Given the description of an element on the screen output the (x, y) to click on. 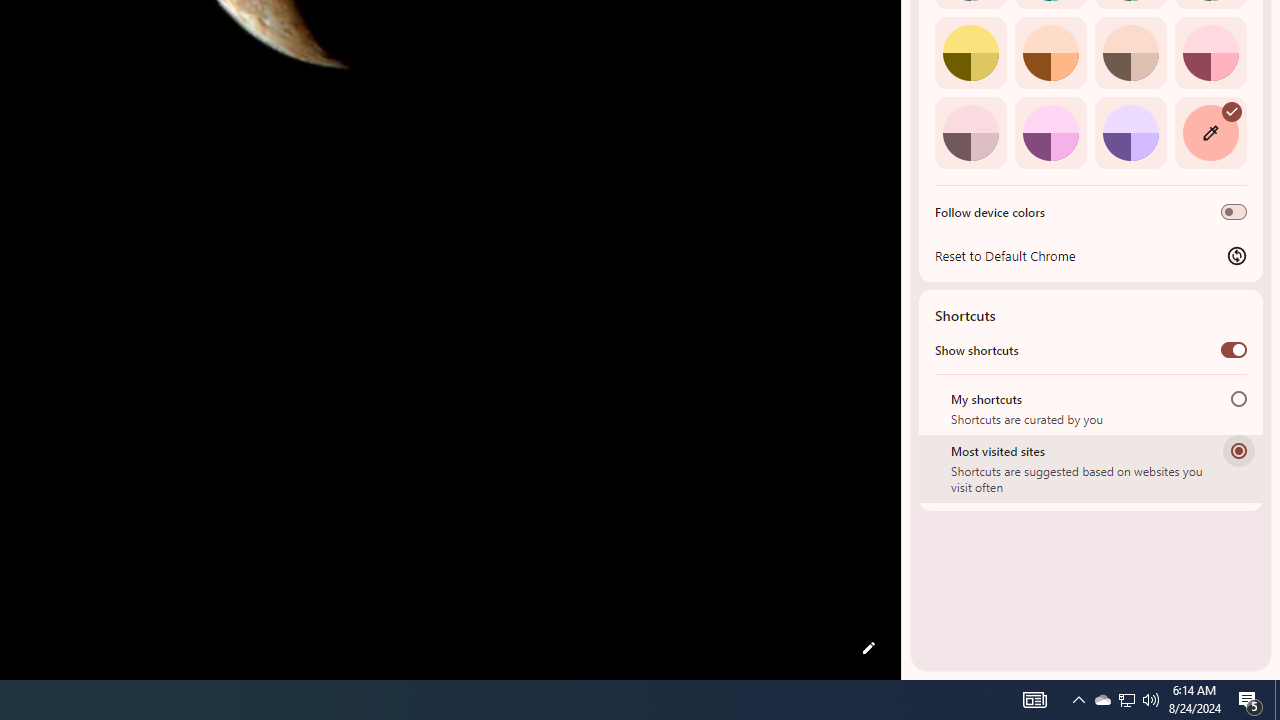
Citron (970, 52)
Custom color (1210, 132)
